Given the description of an element on the screen output the (x, y) to click on. 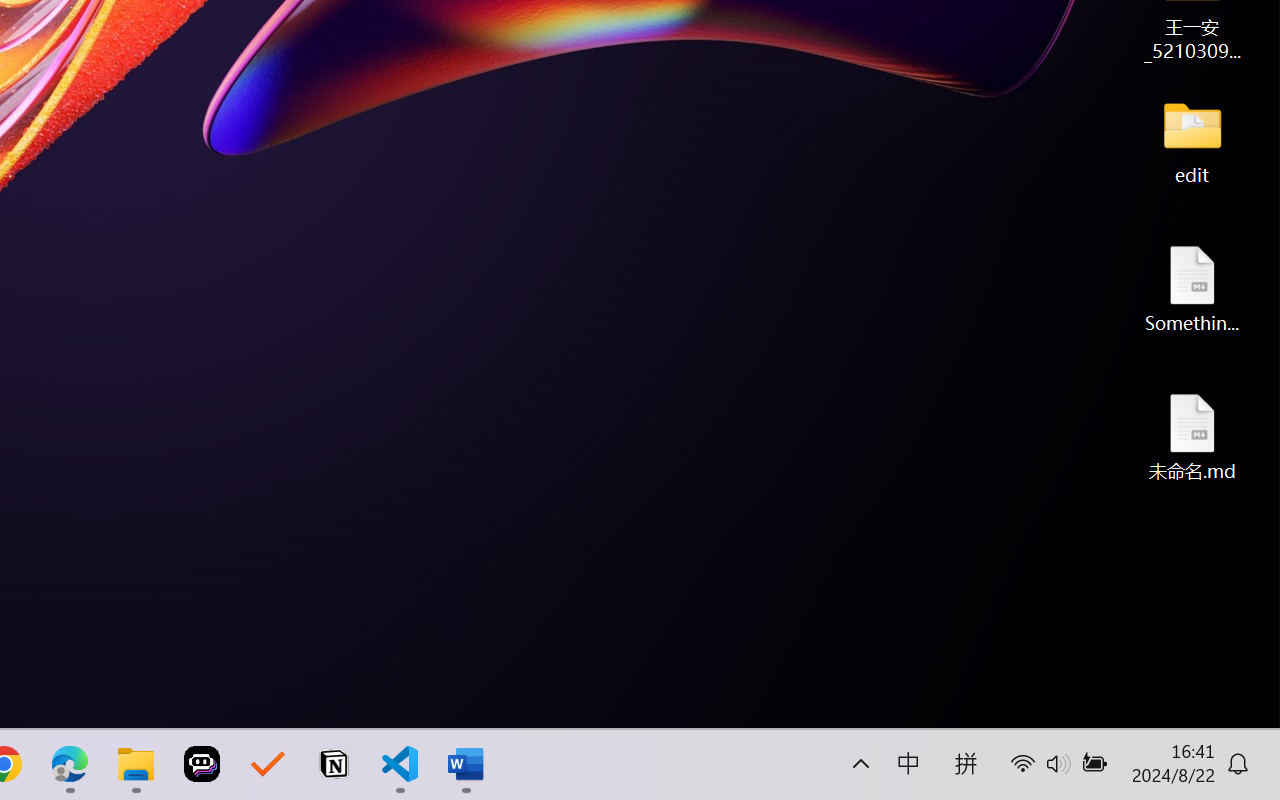
edit (1192, 140)
